Given the description of an element on the screen output the (x, y) to click on. 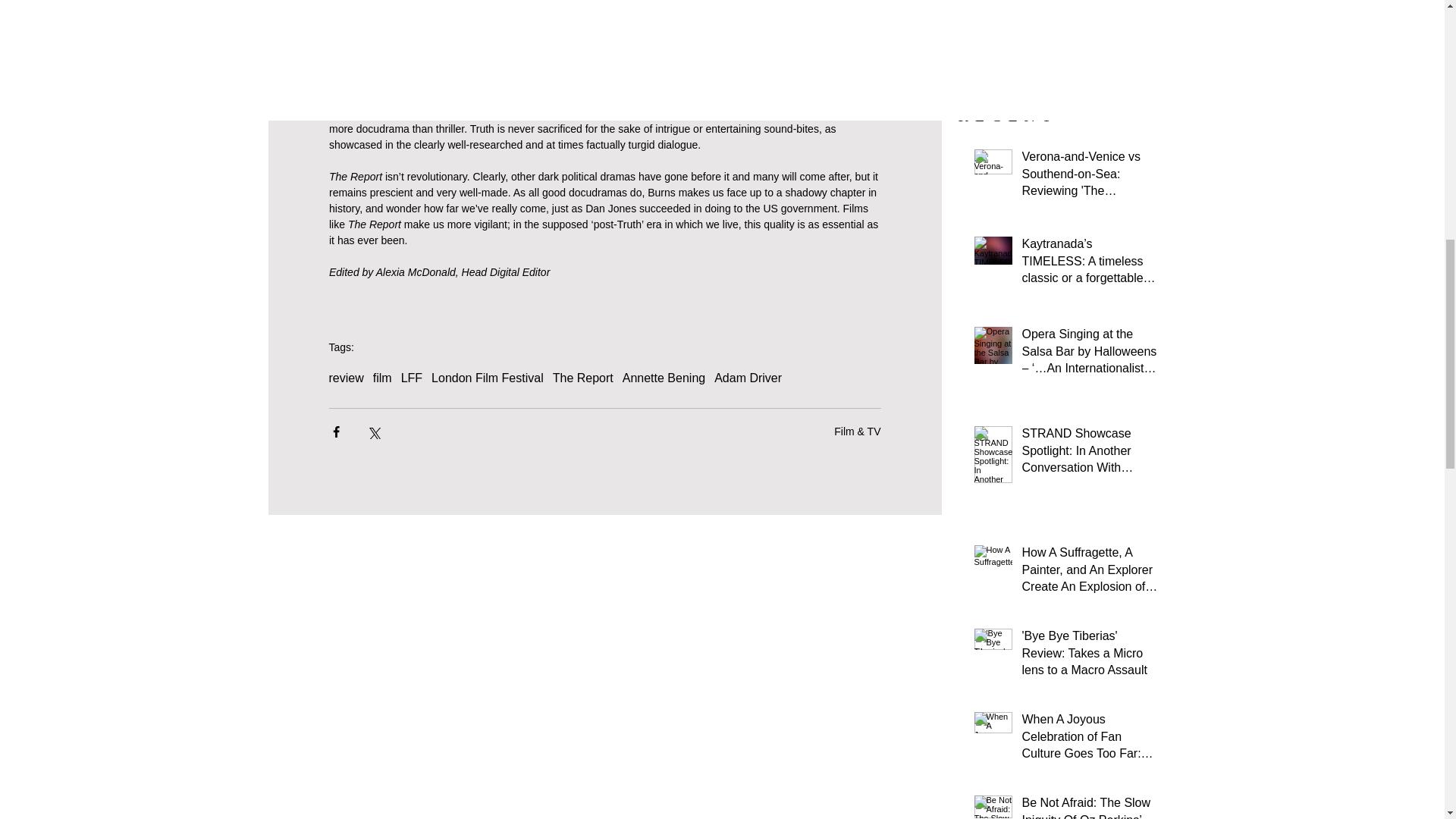
London Film Festival (486, 377)
The Report (582, 377)
film (381, 377)
LFF (411, 377)
Annette Bening (663, 377)
Adam Driver (747, 377)
review (346, 377)
